Given the description of an element on the screen output the (x, y) to click on. 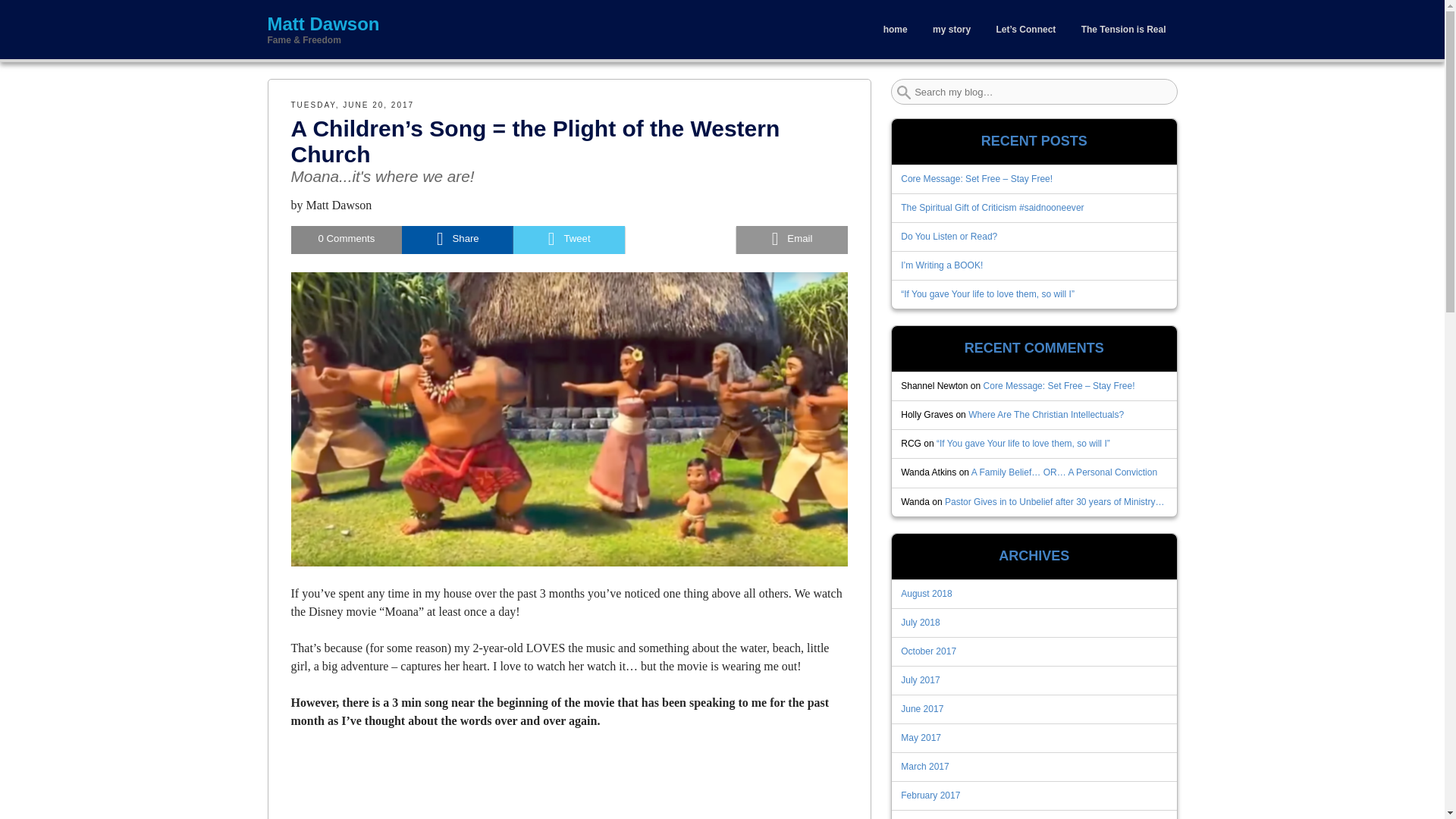
The Tension is Real (1123, 29)
Tweet (568, 239)
June 2017 (922, 708)
Skip to content (299, 10)
Matt Dawson (338, 205)
Search (31, 17)
my story (951, 29)
July 2018 (920, 622)
Where Are The Christian Intellectuals? (1046, 414)
October 2017 (928, 651)
Comment on this Post (347, 239)
Matt Dawson (494, 24)
home (895, 29)
Share (457, 239)
Do You Listen or Read? (949, 235)
